Given the description of an element on the screen output the (x, y) to click on. 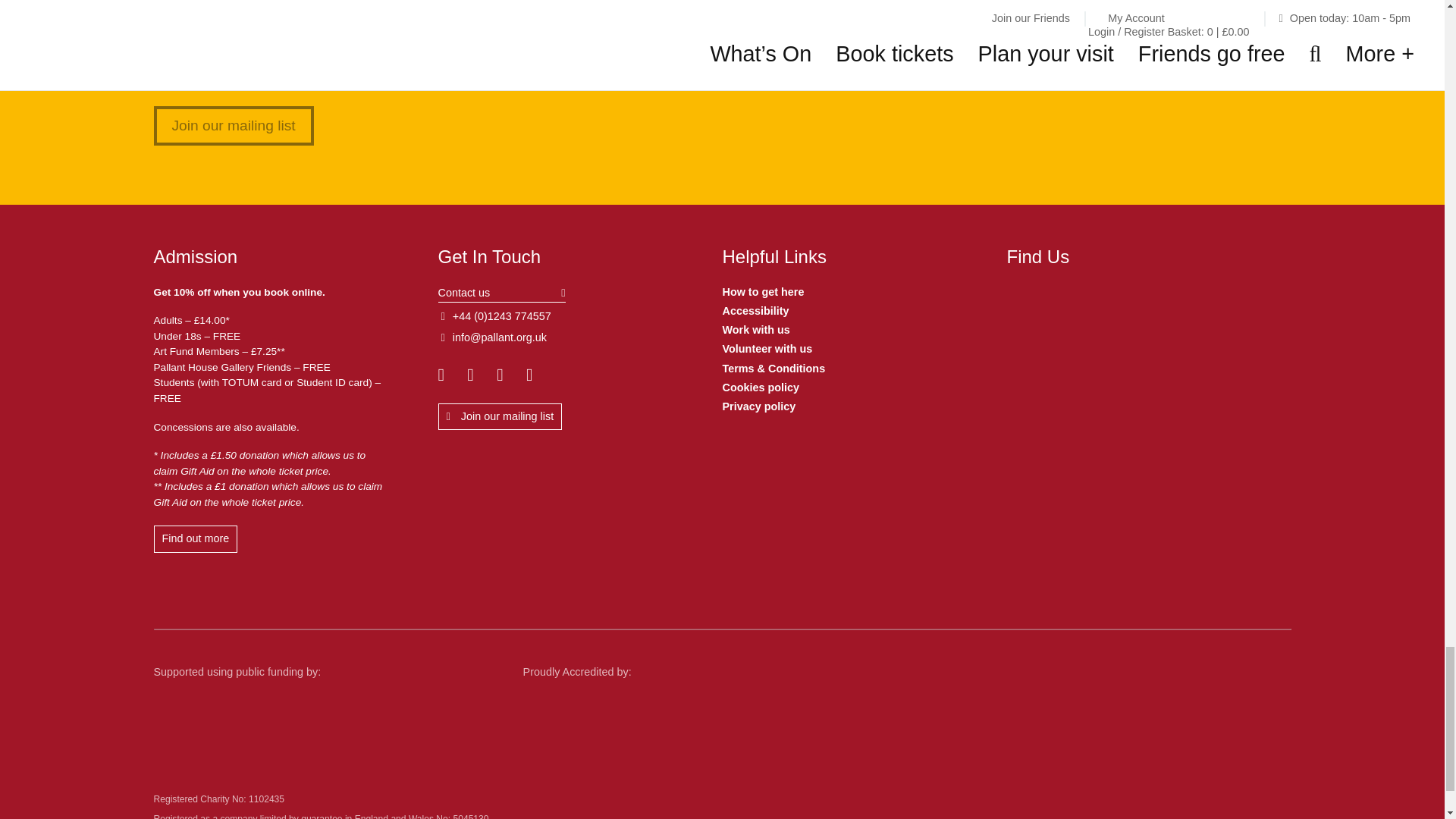
Contact us (502, 294)
Join our mailing list (232, 126)
Pallant Location Map (1136, 355)
Find out more (194, 538)
